Given the description of an element on the screen output the (x, y) to click on. 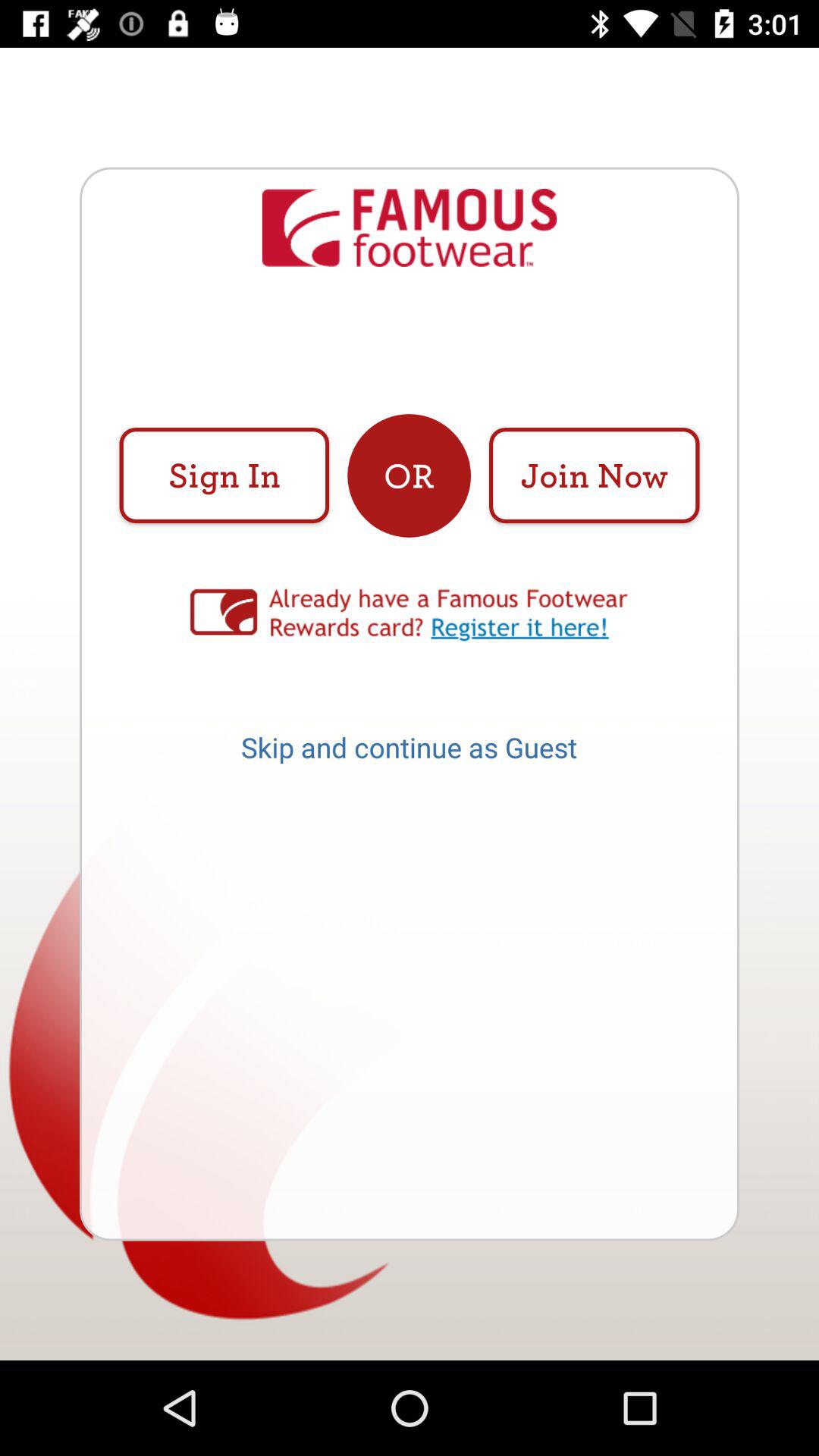
opens a link to the reward program of the app (409, 614)
